Given the description of an element on the screen output the (x, y) to click on. 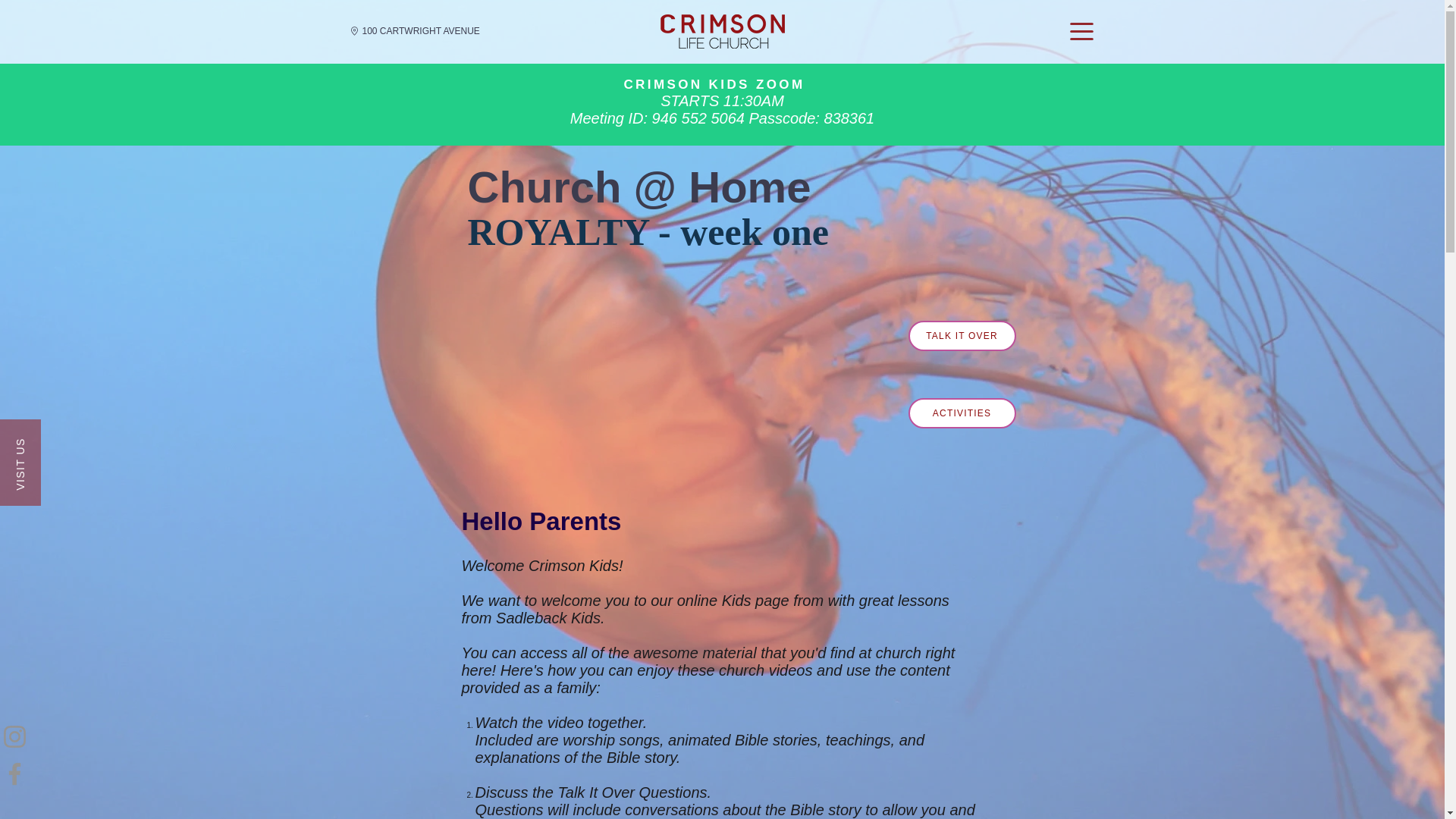
VISIT US (42, 439)
TALK IT OVER (962, 336)
100 CARTWRIGHT AVENUE (421, 30)
ACTIVITIES (962, 413)
